Given the description of an element on the screen output the (x, y) to click on. 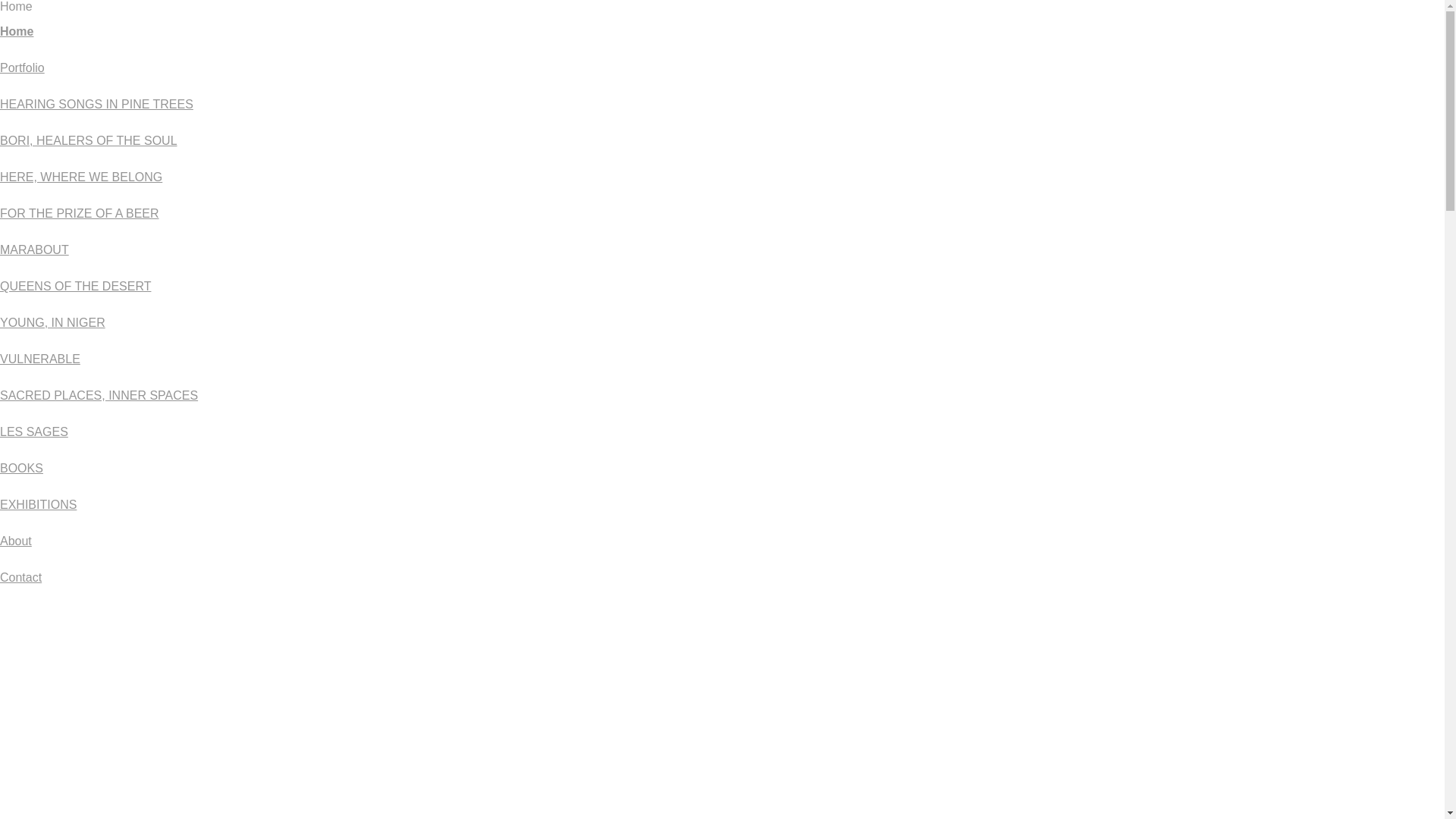
SACRED PLACES, INNER SPACES Element type: text (98, 395)
About Element type: text (15, 540)
Portfolio Element type: text (22, 67)
VULNERABLE Element type: text (40, 358)
YOUNG, IN NIGER Element type: text (52, 322)
LES SAGES Element type: text (34, 431)
QUEENS OF THE DESERT Element type: text (75, 285)
Contact Element type: text (20, 577)
BOOKS Element type: text (21, 467)
HEARING SONGS IN PINE TREES Element type: text (96, 103)
HERE, WHERE WE BELONG Element type: text (81, 176)
Home Element type: text (16, 31)
BORI, HEALERS OF THE SOUL Element type: text (88, 140)
MARABOUT Element type: text (34, 249)
FOR THE PRIZE OF A BEER Element type: text (79, 213)
EXHIBITIONS Element type: text (38, 504)
